Given the description of an element on the screen output the (x, y) to click on. 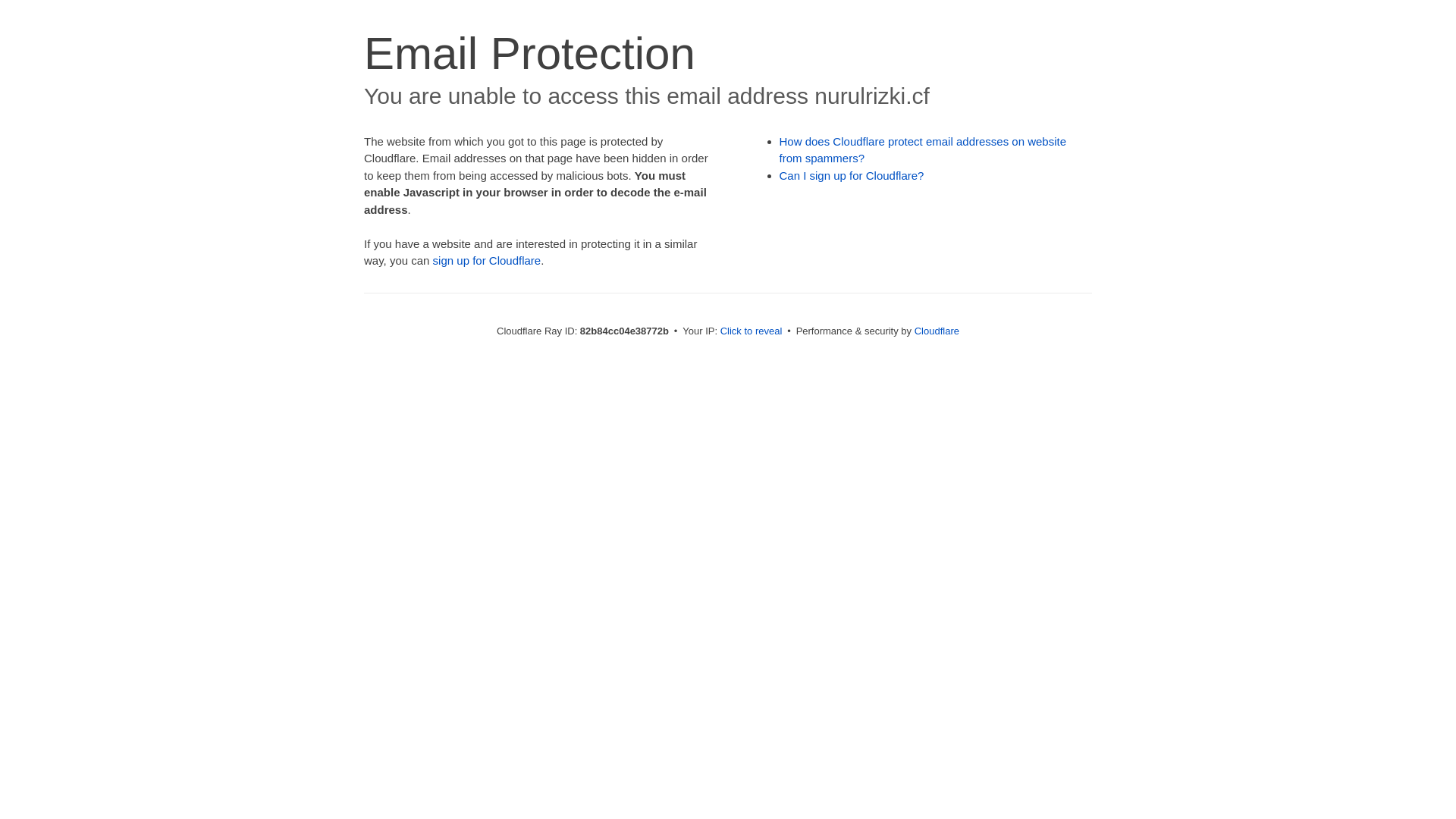
Click to reveal Element type: text (751, 330)
Can I sign up for Cloudflare? Element type: text (851, 175)
Cloudflare Element type: text (936, 330)
sign up for Cloudflare Element type: text (487, 260)
